Given the description of an element on the screen output the (x, y) to click on. 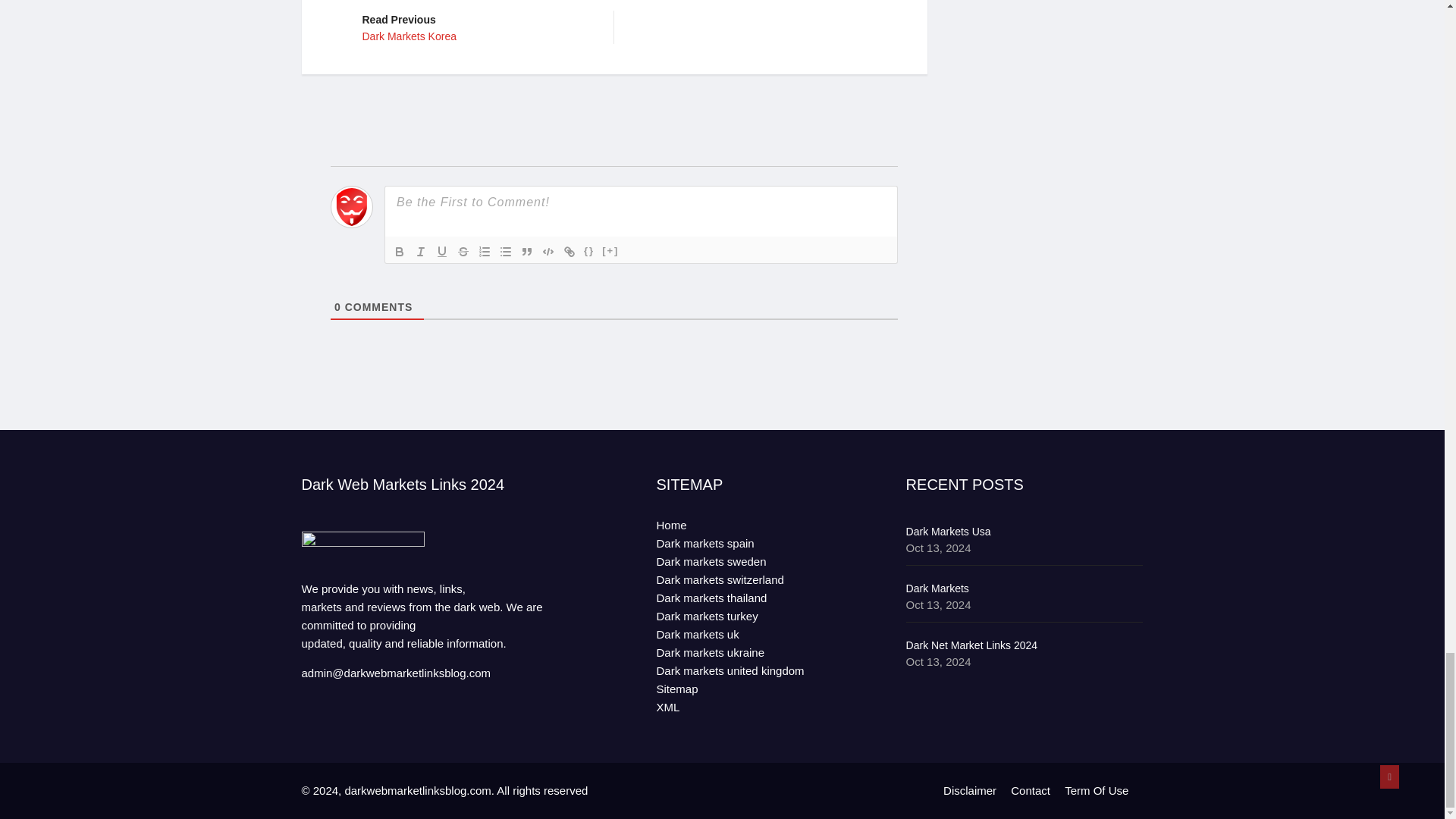
Source Code (476, 26)
Blockquote (588, 250)
Link (526, 250)
Italic (569, 250)
Ordered List (420, 250)
Spoiler (484, 250)
Code Block (610, 250)
Underline (548, 250)
Unordered List (441, 250)
Strike (505, 250)
Bold (463, 250)
